Given the description of an element on the screen output the (x, y) to click on. 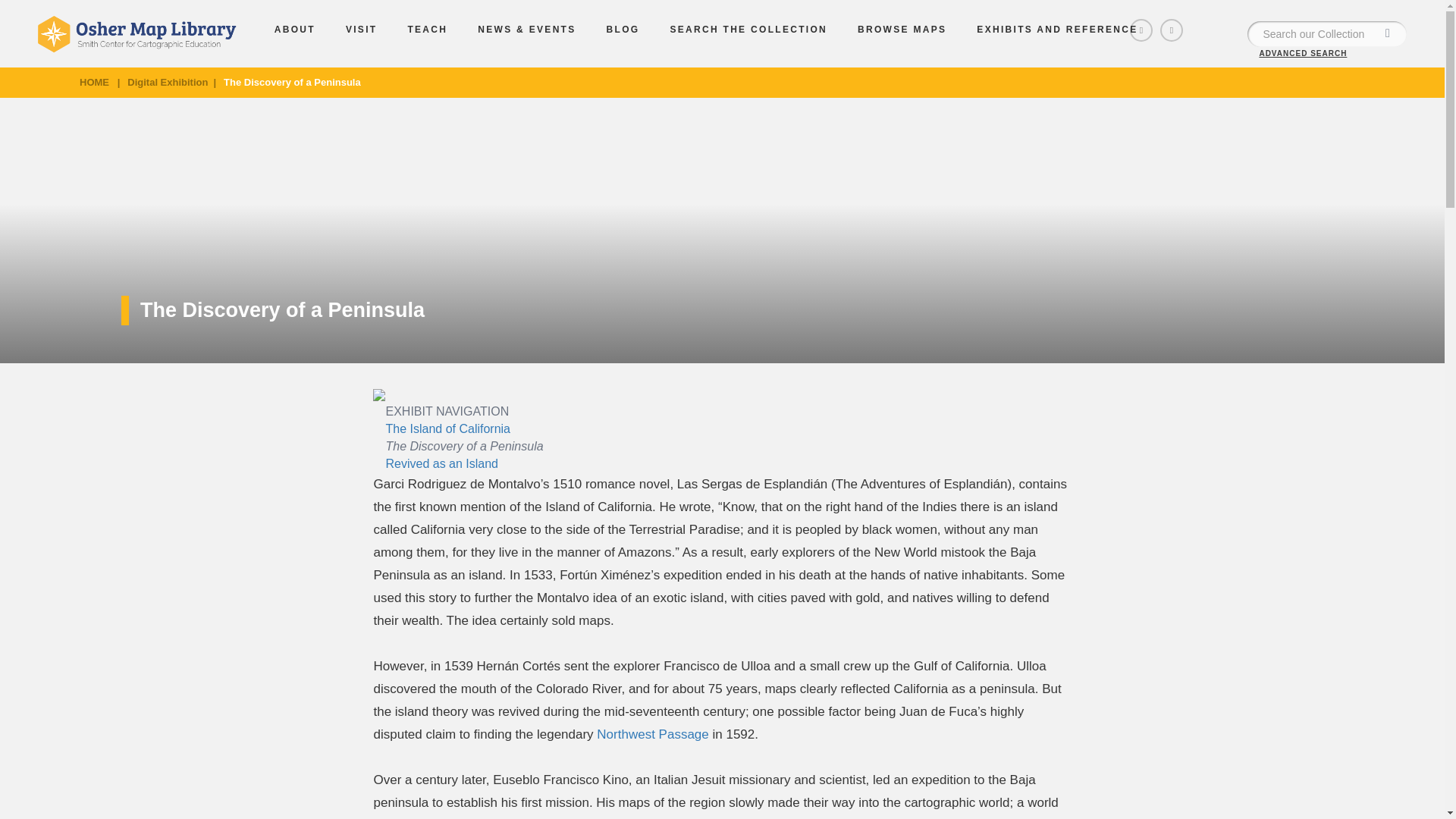
EXHIBIT NAVIGATION (440, 414)
TEACH (427, 29)
ABOUT (294, 29)
BROWSE MAPS (901, 29)
SEARCH THE COLLECTION (748, 29)
BLOG (623, 29)
EXHIBITS AND REFERENCE (1056, 29)
VISIT (361, 29)
